Given the description of an element on the screen output the (x, y) to click on. 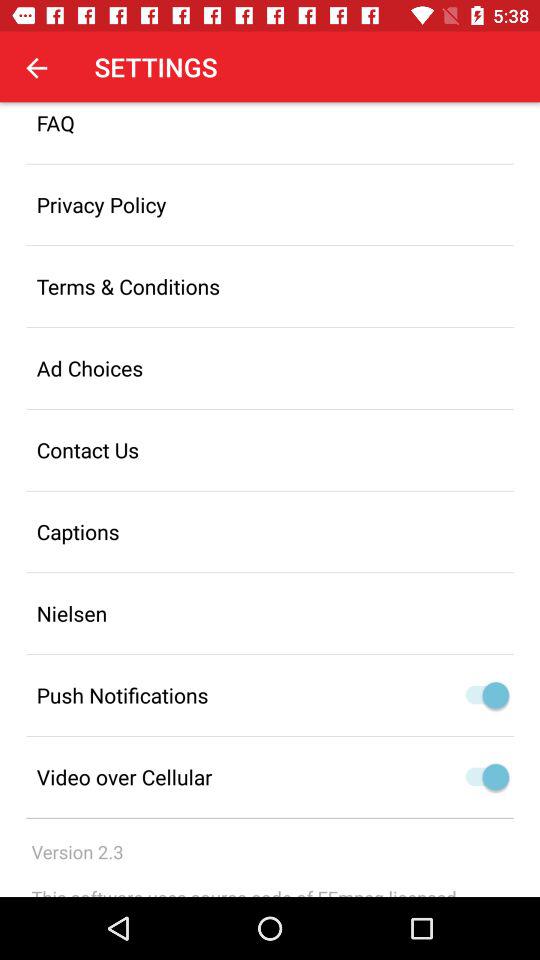
choose the captions icon (270, 531)
